Given the description of an element on the screen output the (x, y) to click on. 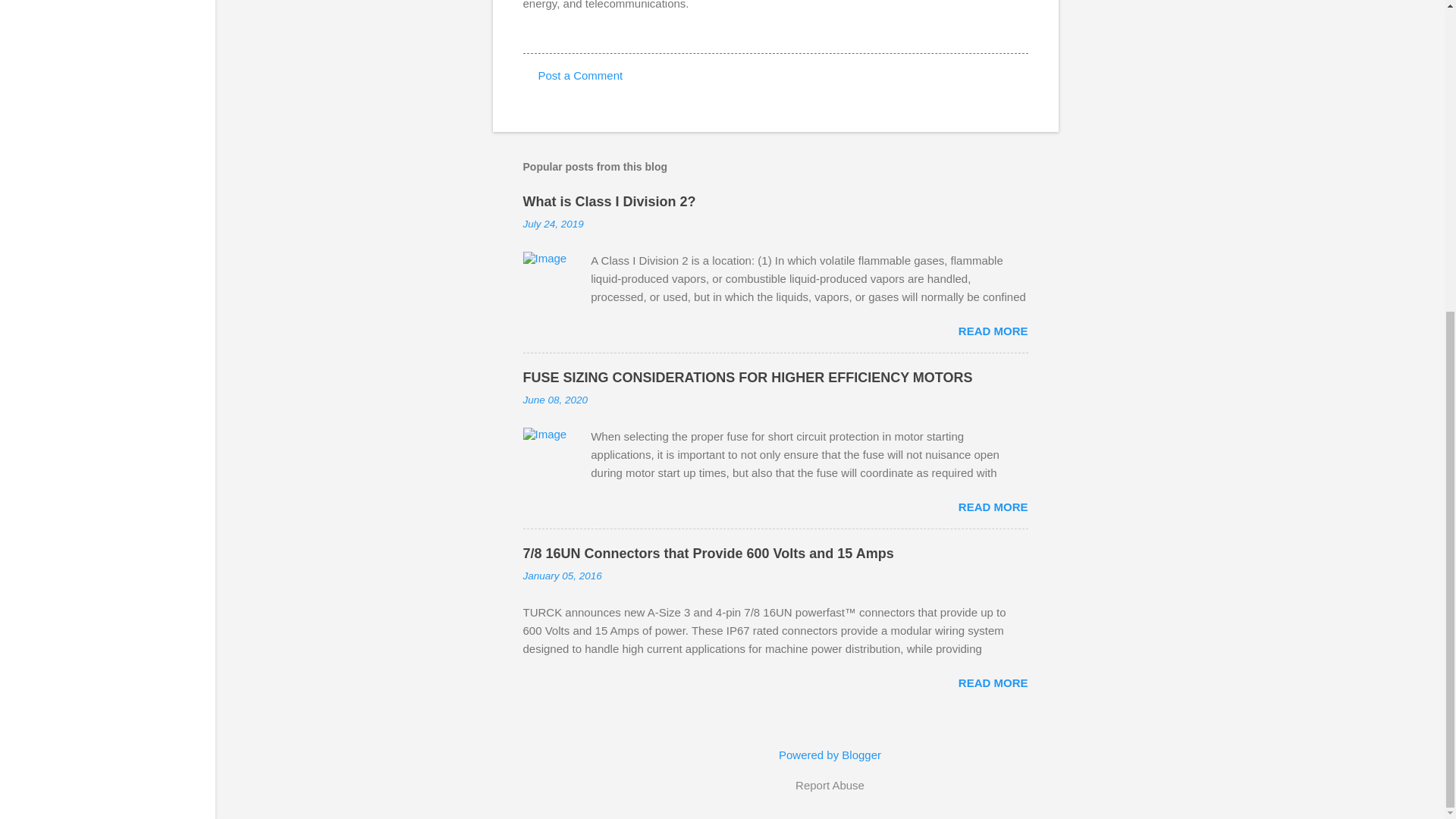
January 05, 2016 (562, 575)
What is Class I Division 2? (608, 201)
READ MORE (992, 506)
READ MORE (992, 330)
Report Abuse (829, 785)
July 24, 2019 (552, 224)
Powered by Blogger (829, 754)
FUSE SIZING CONSIDERATIONS FOR HIGHER EFFICIENCY MOTORS (747, 377)
permanent link (552, 224)
Post a Comment (580, 74)
